Given the description of an element on the screen output the (x, y) to click on. 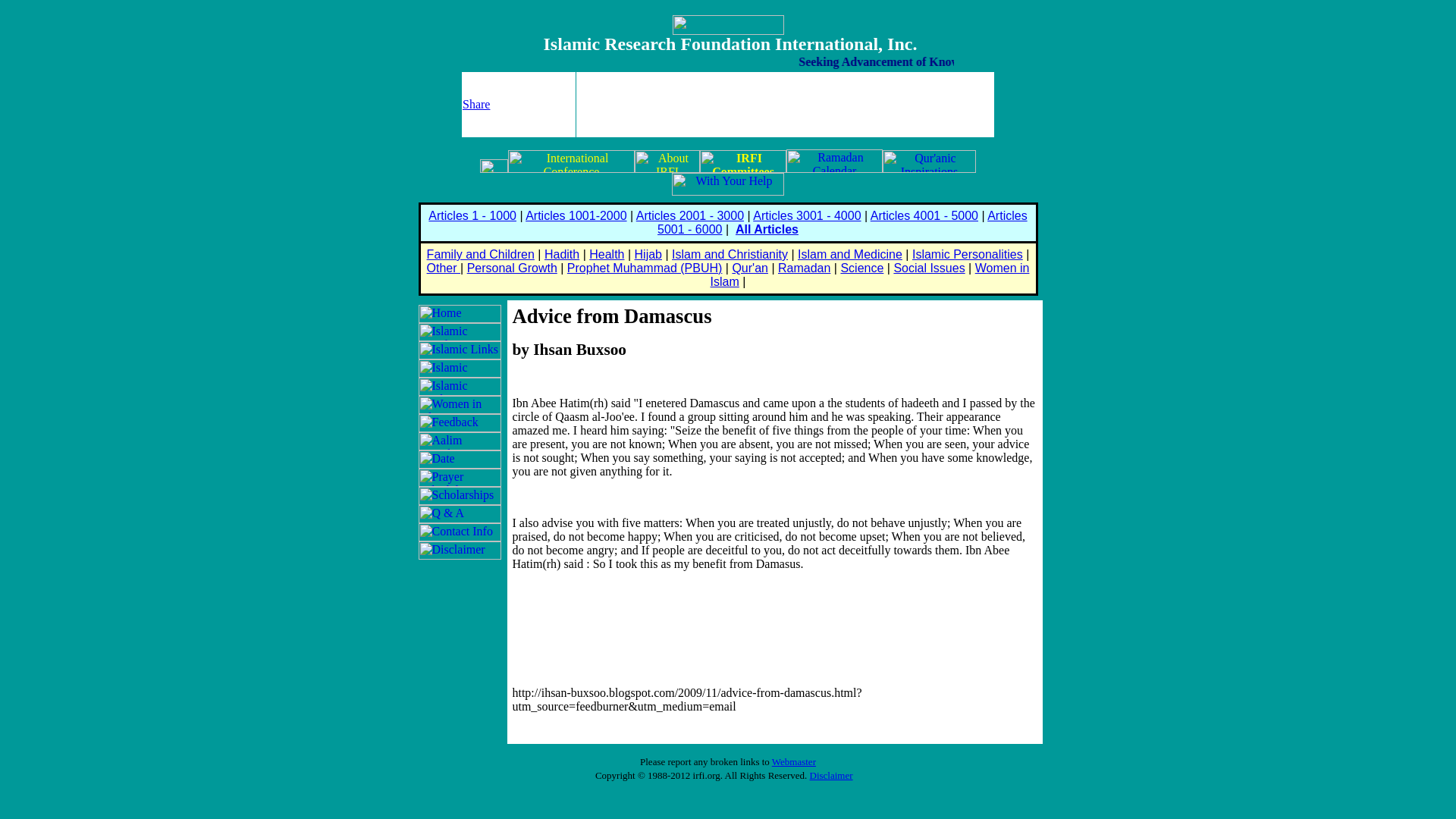
Personal Growth (512, 267)
All Articles (766, 228)
Articles 2001 - 3000 (690, 215)
Hijab (648, 254)
Islamic Personalities (967, 254)
Islam and Medicine (849, 254)
Social Issues (928, 267)
Islam and Christianity (729, 254)
Articles 1 - 1000 (472, 215)
Hadith (561, 254)
Articles 3001 - 4000 (806, 215)
Articles 4001 - 5000 (924, 215)
Family and Children (480, 254)
Articles 5001 - 6000 (842, 222)
Health (606, 254)
